Given the description of an element on the screen output the (x, y) to click on. 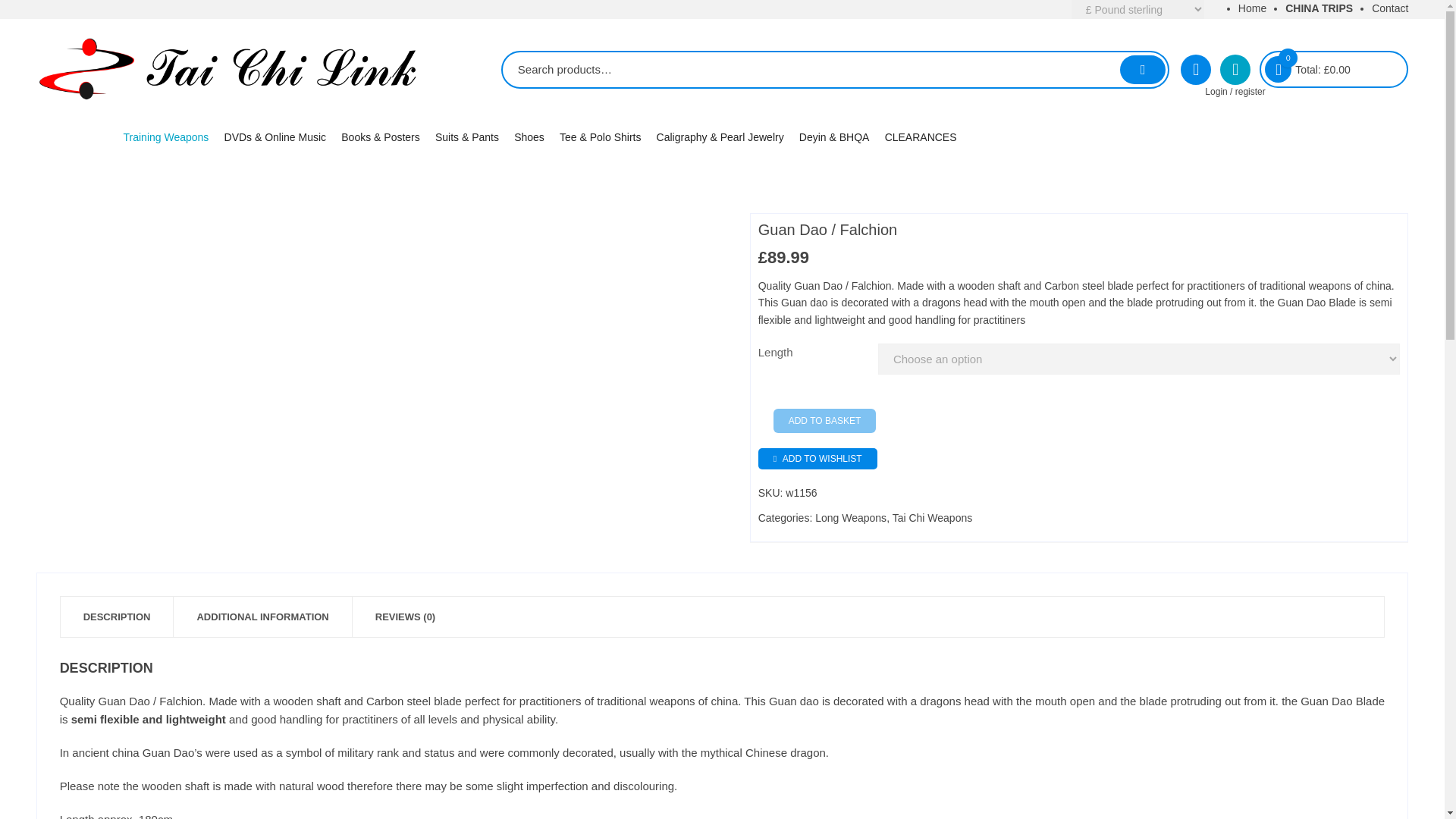
Wing Chun (312, 213)
Training Weapons (168, 137)
0 (1278, 69)
Broad Sword (217, 188)
Weapon Accessories (217, 288)
Online Music (312, 262)
Zhao Bao Style (501, 262)
Long Weapons (217, 213)
Straight Sword (217, 164)
Yi Quan (501, 238)
CHINA TRIPS (1318, 8)
Exotic Weapons (217, 263)
Tai Chi (312, 164)
Tai Chi Posters (429, 213)
Yang Style (501, 188)
